Given the description of an element on the screen output the (x, y) to click on. 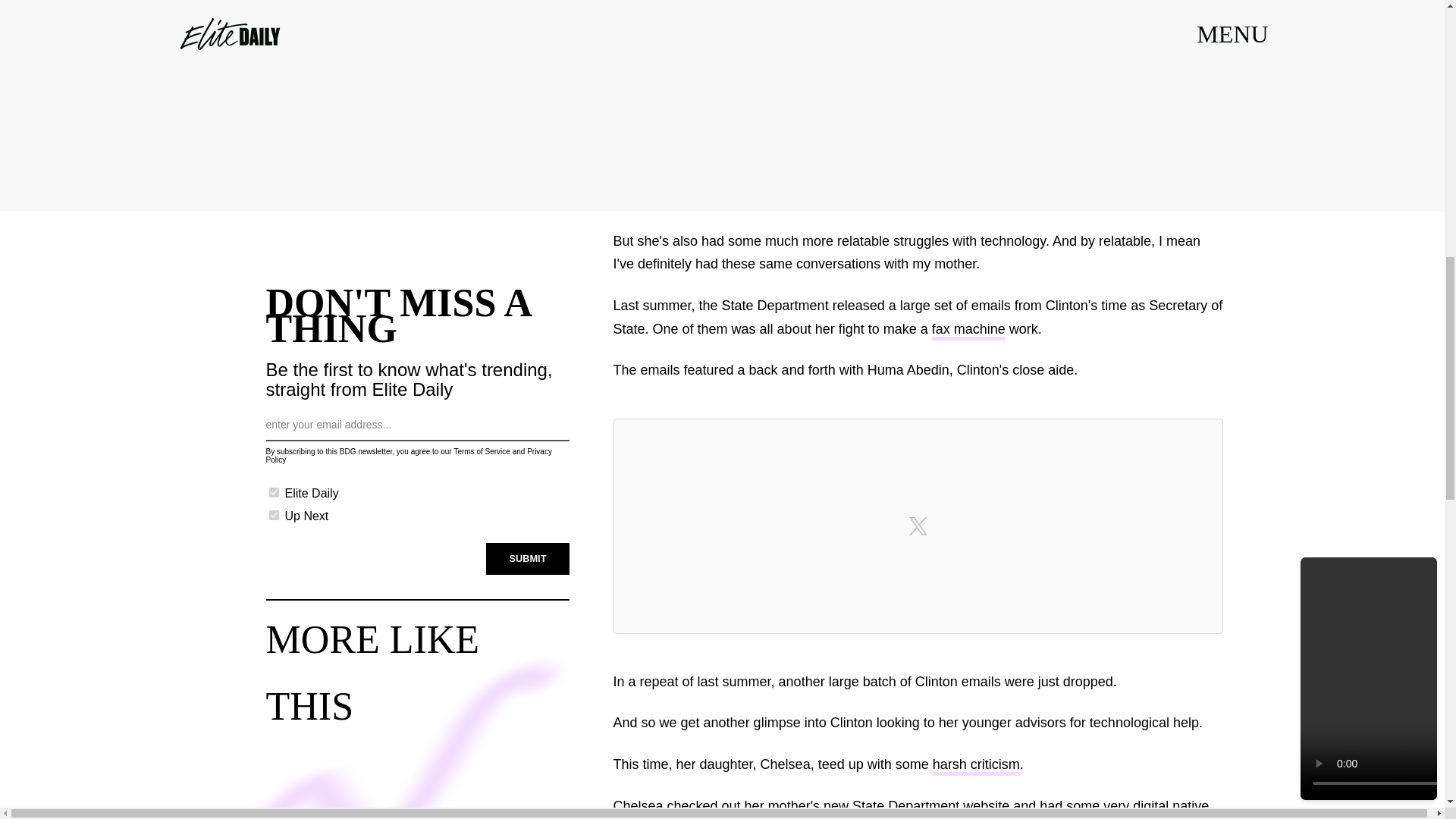
harsh criticism (976, 765)
fax machine (968, 330)
Terms of Service (480, 451)
SUBMIT (527, 558)
Privacy Policy (407, 455)
